Given the description of an element on the screen output the (x, y) to click on. 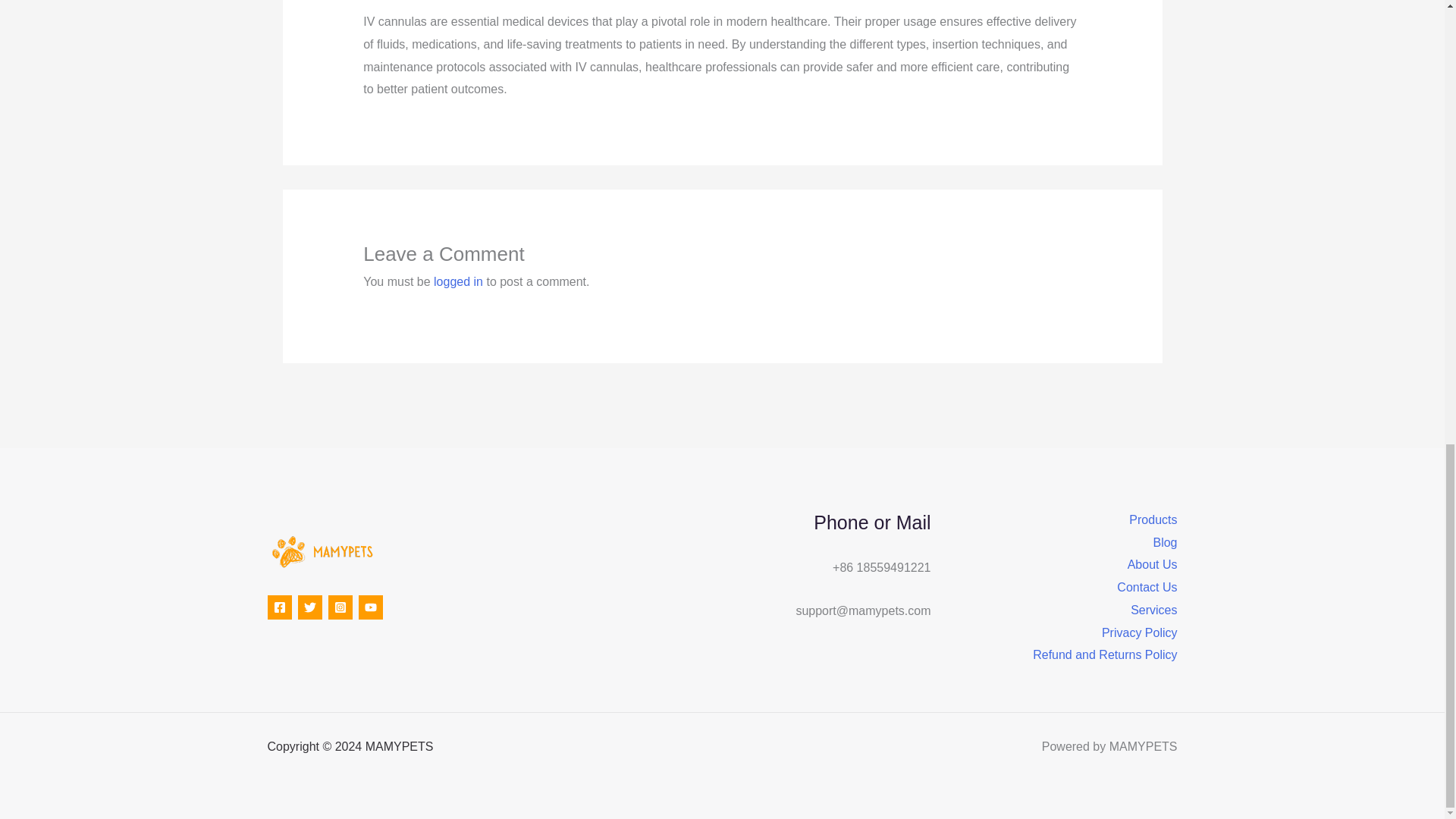
logged in (458, 281)
Privacy Policy (1139, 632)
Products (1152, 519)
Refund and Returns Policy (1104, 654)
About Us (1151, 564)
Blog (1164, 542)
Contact Us (1146, 587)
Services (1153, 609)
